Given the description of an element on the screen output the (x, y) to click on. 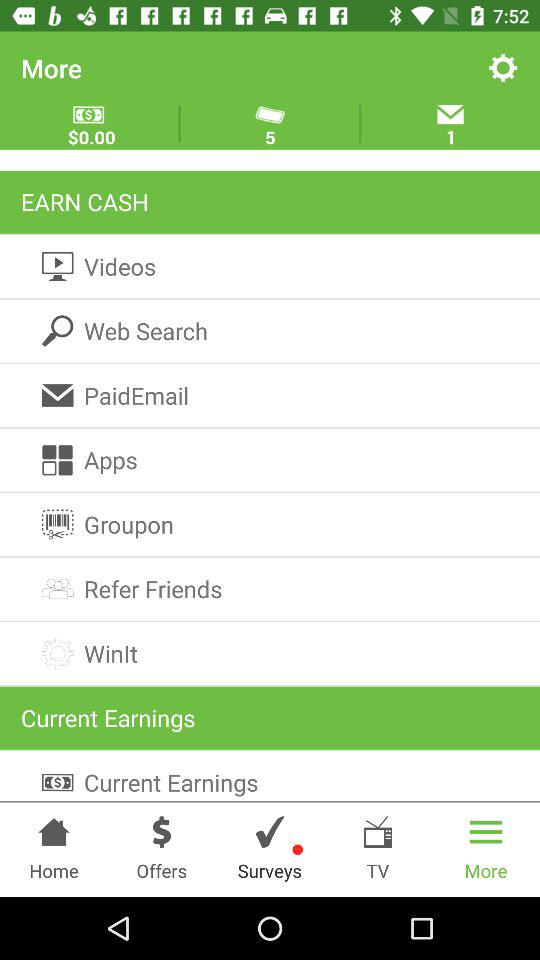
choose the icon below groupon icon (270, 588)
